Given the description of an element on the screen output the (x, y) to click on. 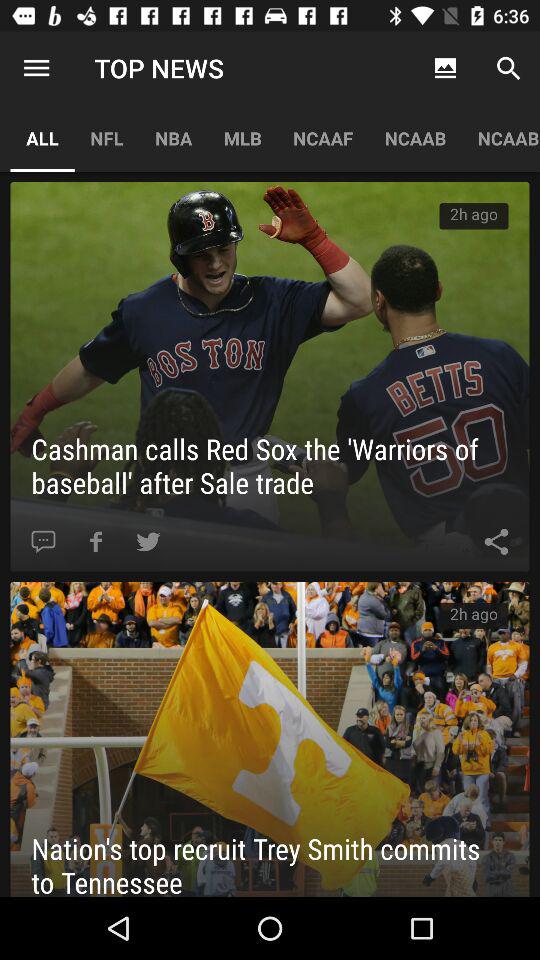
tap item above the ncaab item (444, 67)
